Given the description of an element on the screen output the (x, y) to click on. 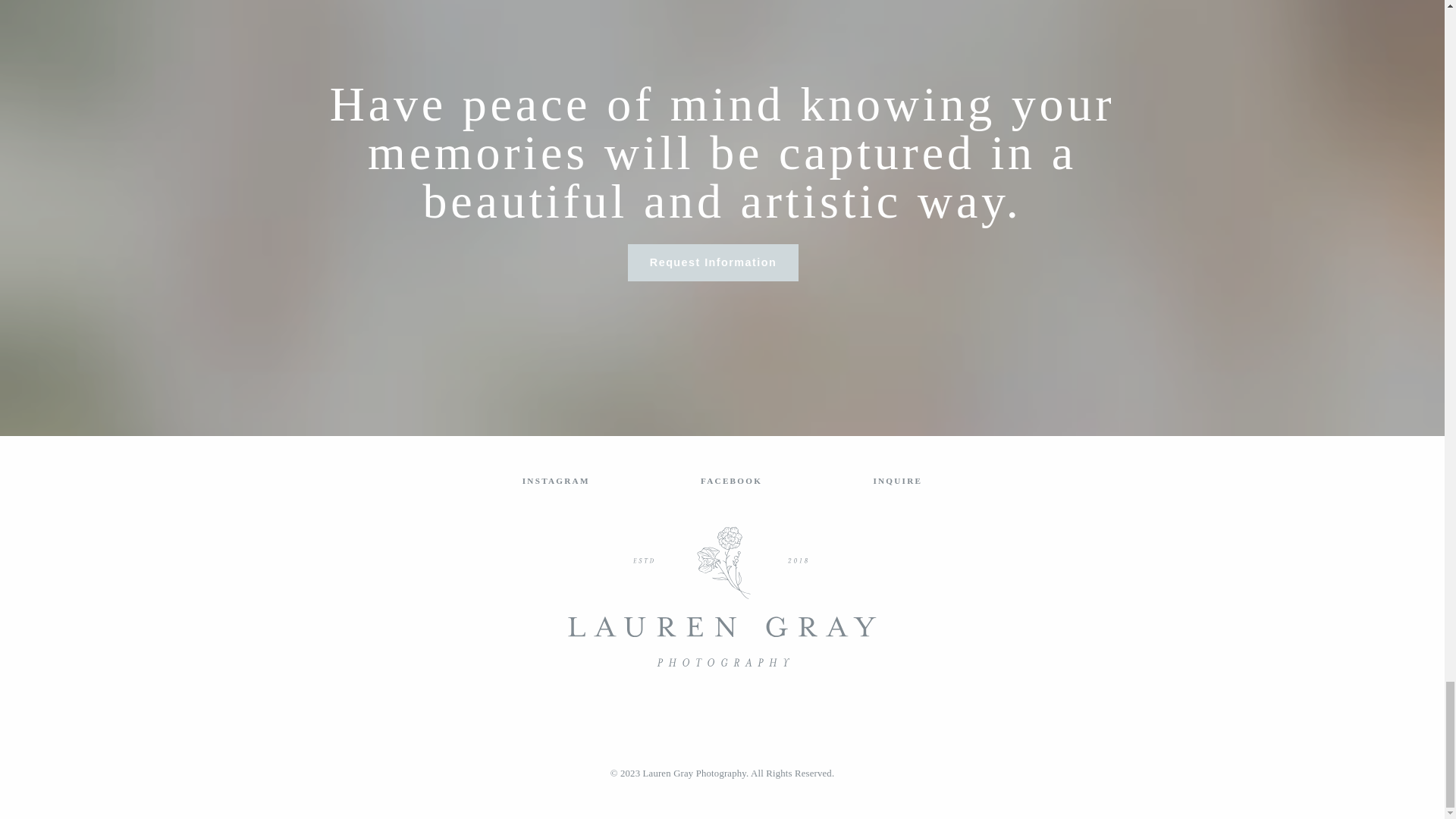
INSTAGRAM (555, 480)
FACEBOOK (730, 480)
INQUIRE (896, 480)
Request Information (712, 262)
Lauren Gray Photography (694, 773)
